Given the description of an element on the screen output the (x, y) to click on. 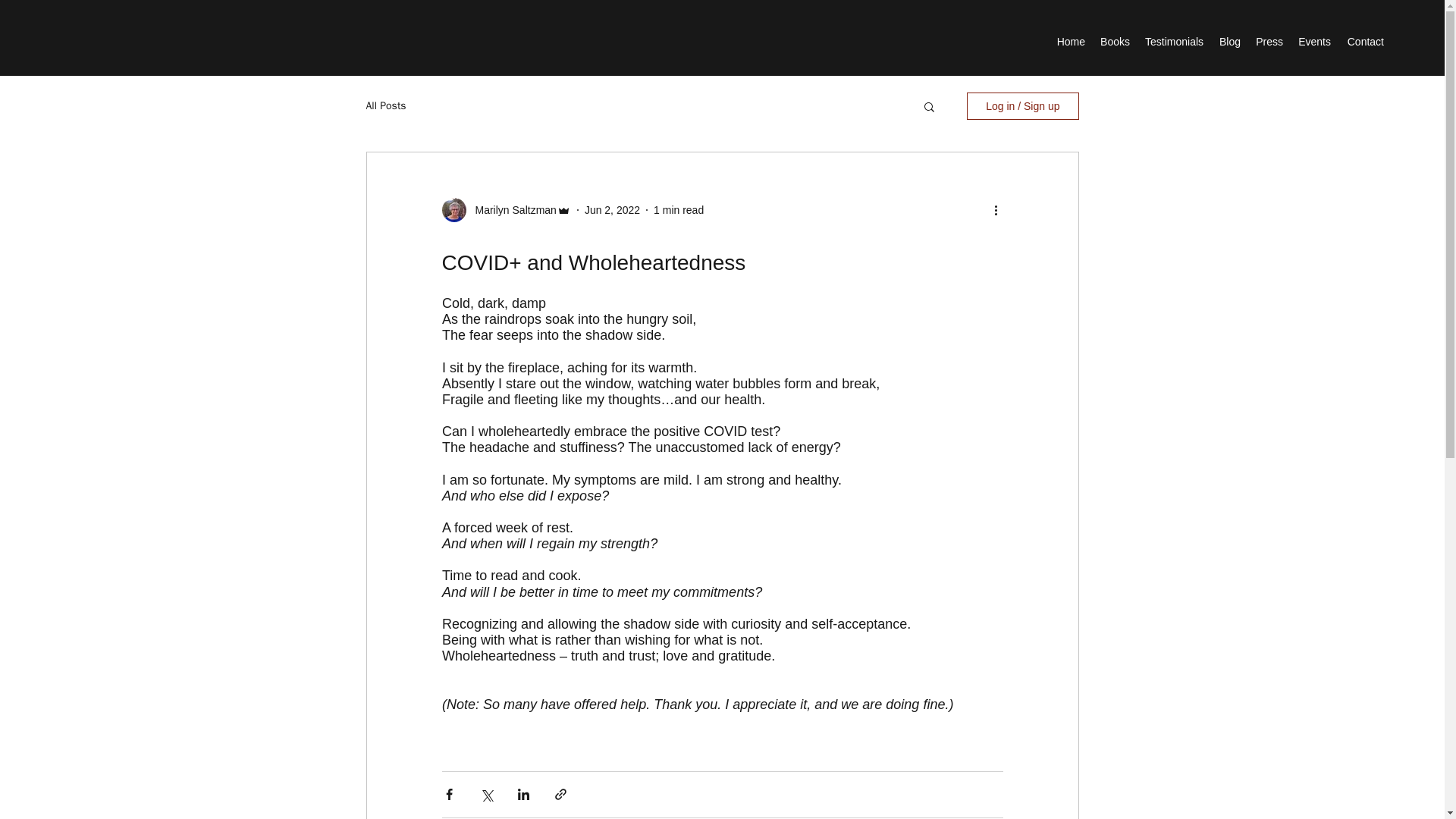
Events (1314, 41)
Testimonials (1174, 41)
Books (1115, 41)
1 min read (678, 209)
Home (1070, 41)
Contact (1364, 41)
Blog (1229, 41)
All Posts (385, 106)
Jun 2, 2022 (612, 209)
Marilyn Saltzman (510, 209)
